Given the description of an element on the screen output the (x, y) to click on. 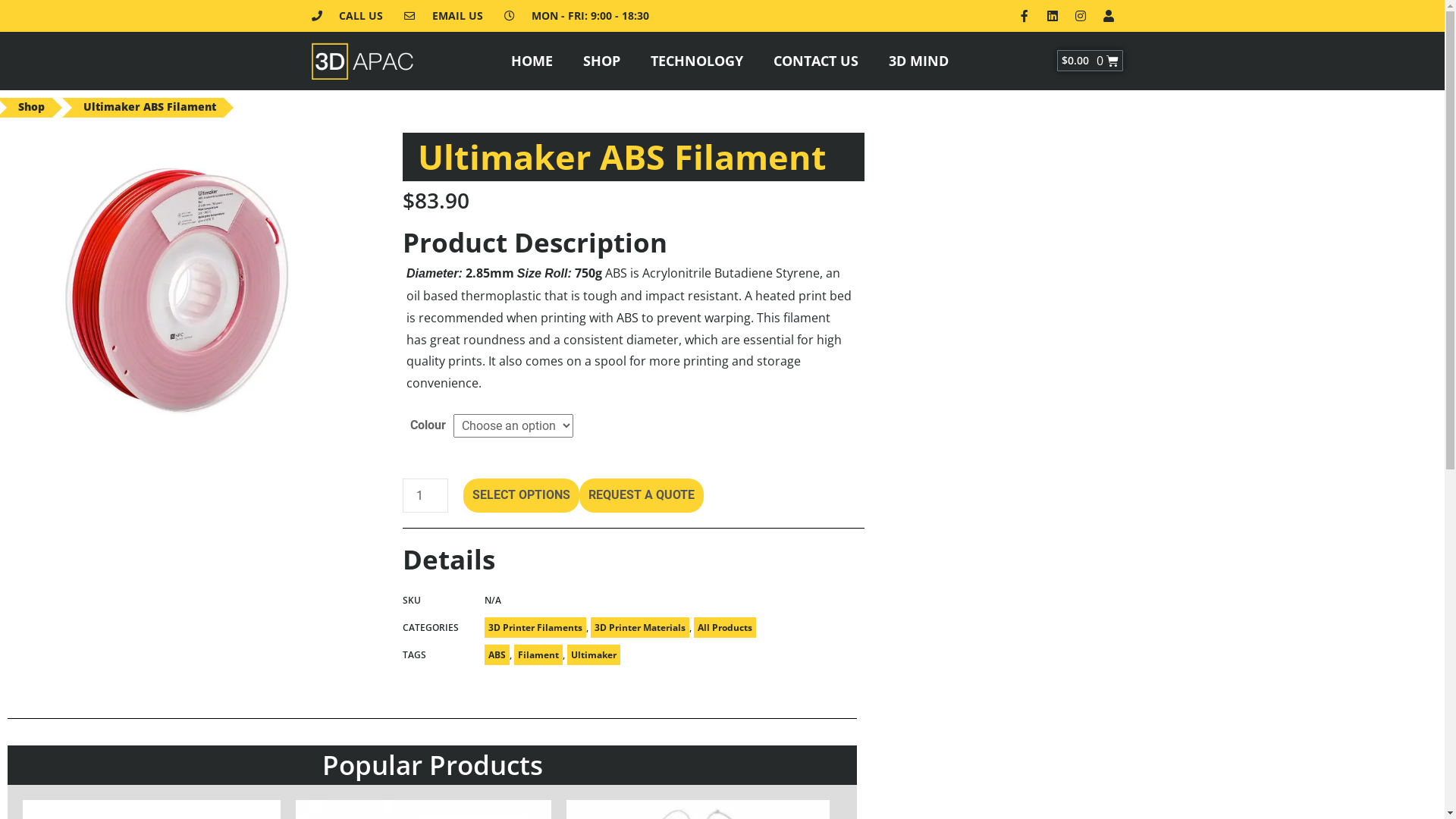
All Products Element type: text (724, 627)
Ultimaker ABS Filament product image Element type: hover (172, 290)
Ultimaker ABS Filament Element type: text (149, 107)
ABS Element type: text (496, 654)
CALL US Element type: text (346, 15)
Ultimaker Element type: text (593, 654)
EMAIL US Element type: text (443, 15)
REQUEST A QUOTE Element type: text (641, 495)
$0.00
0 Element type: text (1090, 60)
TECHNOLOGY Element type: text (696, 60)
HOME Element type: text (531, 60)
SELECT OPTIONS Element type: text (521, 495)
3D Printer Filaments Element type: text (535, 627)
SHOP Element type: text (601, 60)
Shop Element type: text (31, 107)
3D MIND Element type: text (918, 60)
3D Printer Materials Element type: text (639, 627)
Filament Element type: text (538, 654)
CONTACT US Element type: text (815, 60)
